Given the description of an element on the screen output the (x, y) to click on. 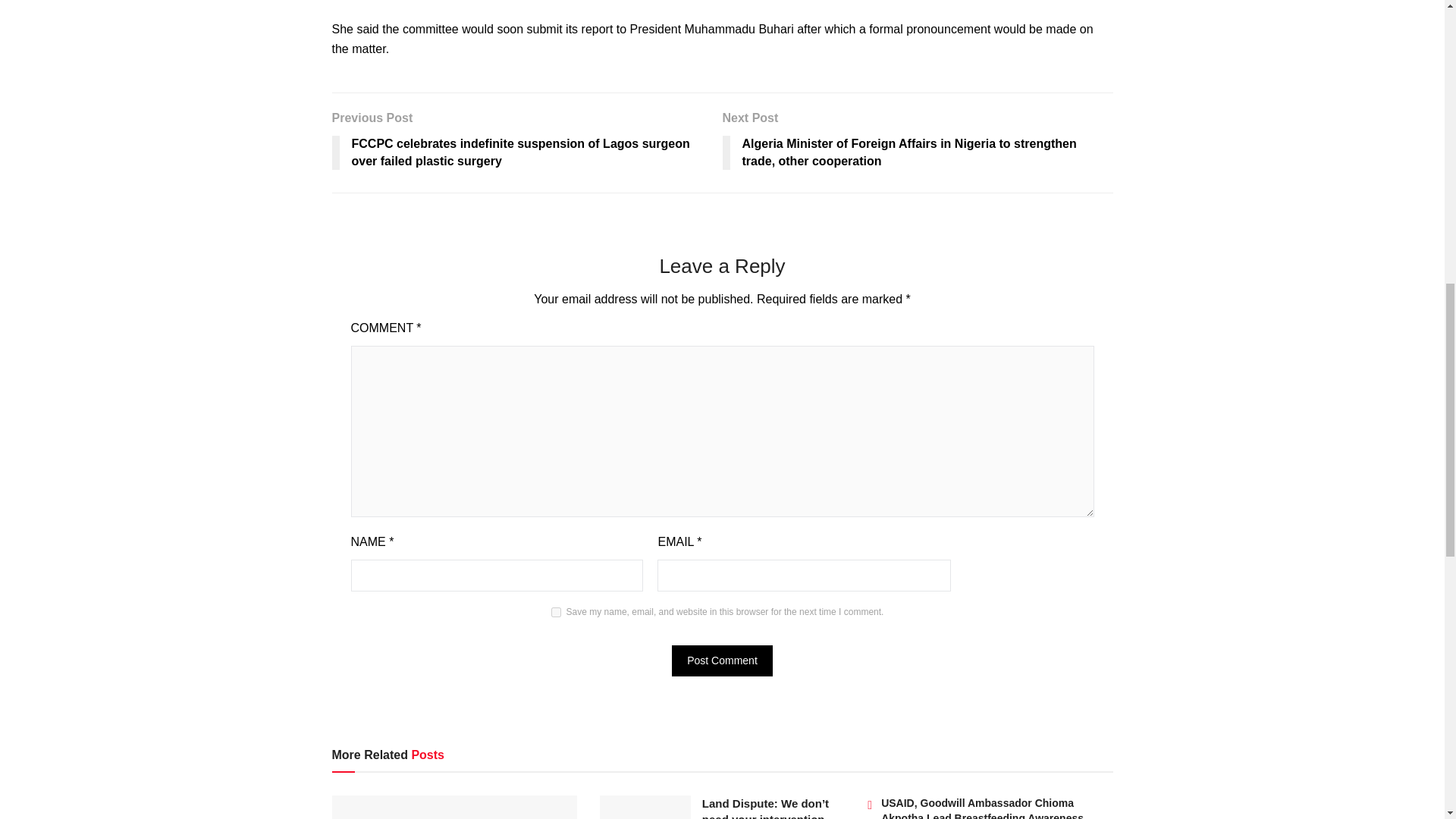
yes (555, 612)
Post Comment (722, 660)
